Given the description of an element on the screen output the (x, y) to click on. 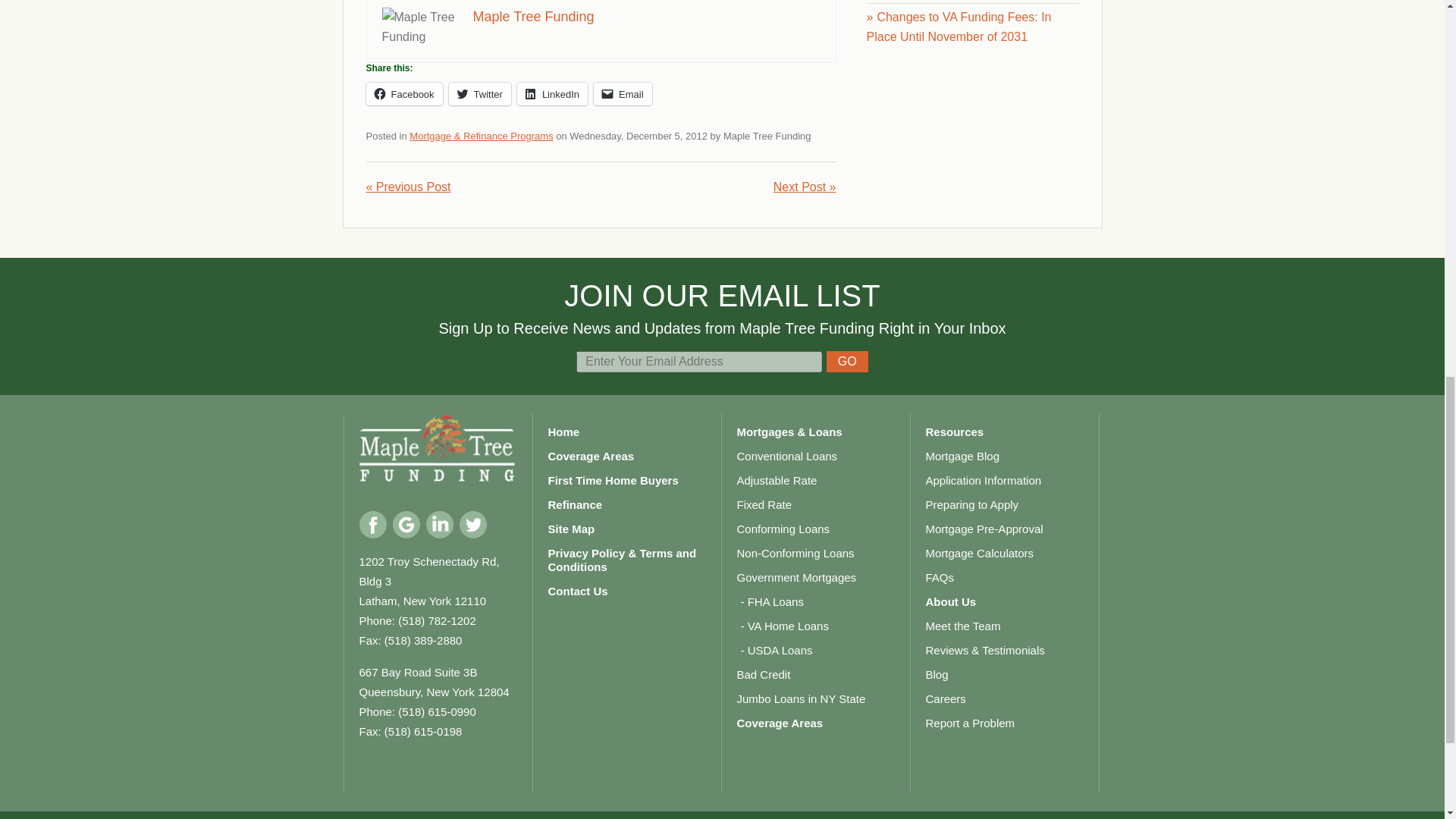
Click to share on LinkedIn (552, 93)
Go (847, 361)
Click to share on Facebook (403, 93)
Click to share on Twitter (479, 93)
Click to email a link to a friend (623, 93)
